Given the description of an element on the screen output the (x, y) to click on. 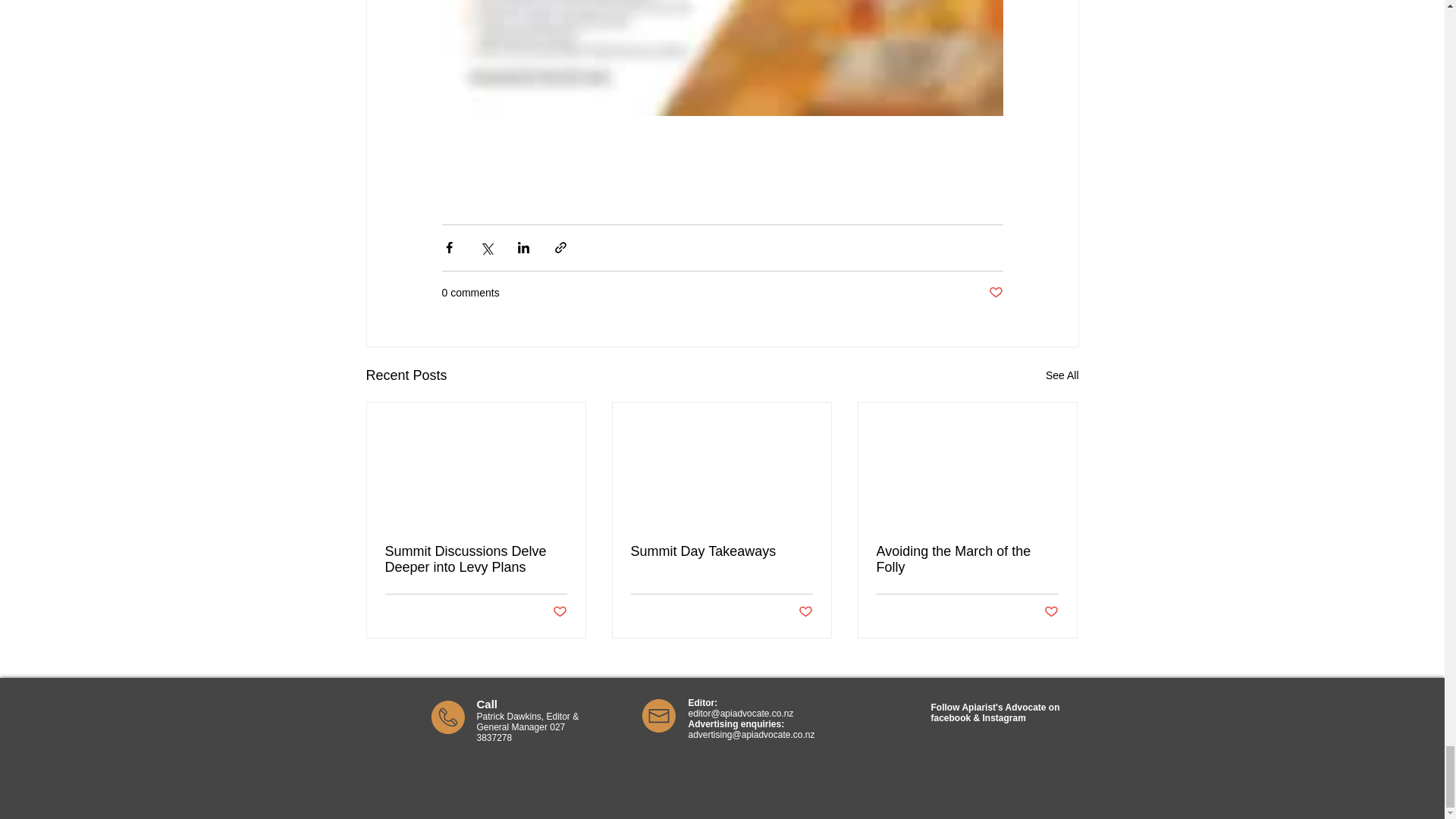
See All (1061, 375)
Post not marked as liked (995, 293)
